Given the description of an element on the screen output the (x, y) to click on. 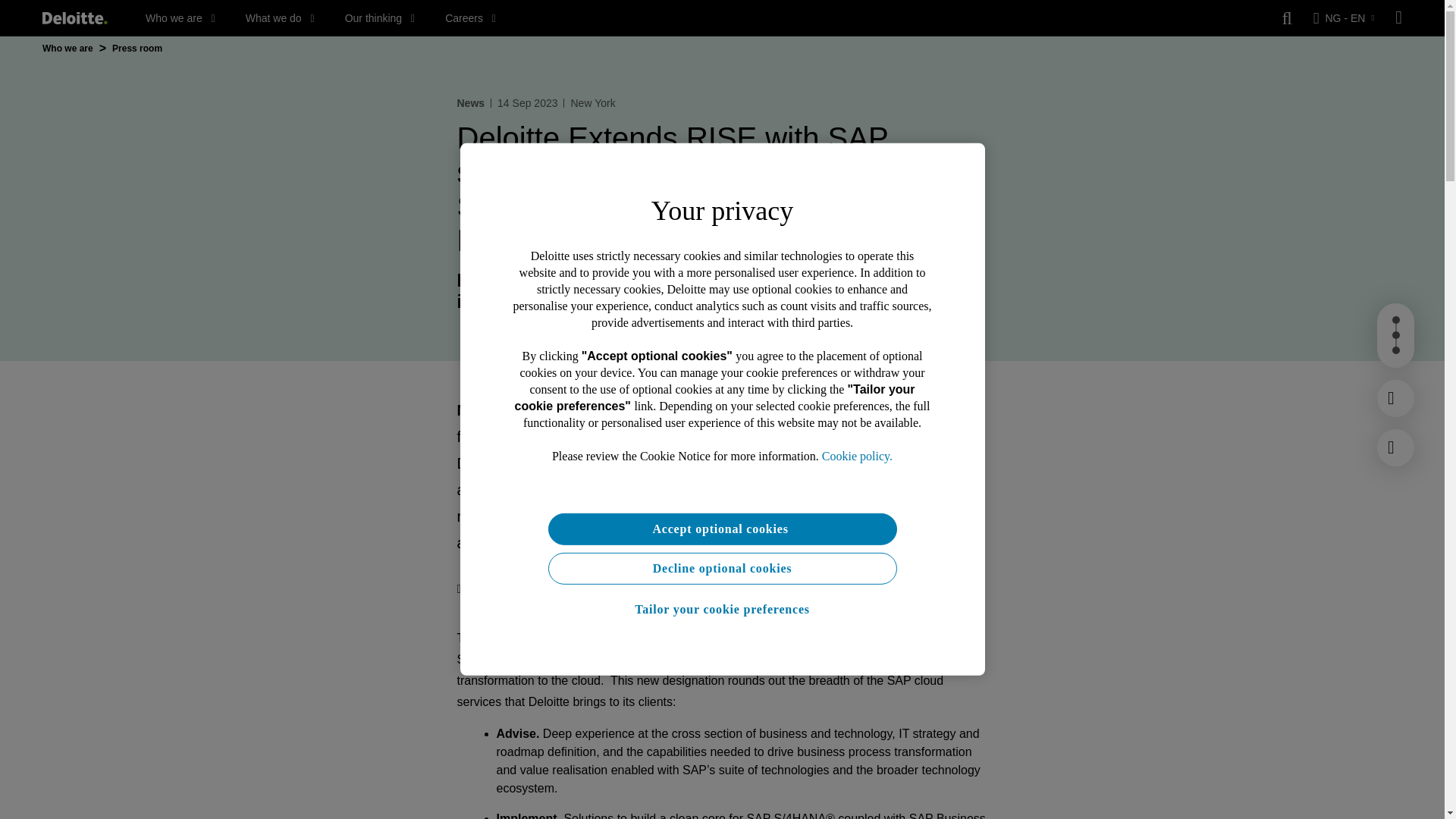
What we do (280, 18)
share via... (588, 589)
Who we are (180, 18)
share via... (528, 589)
Careers (470, 18)
Print (474, 589)
share via... (558, 589)
share via... (649, 589)
share via... (619, 589)
Our thinking (379, 18)
Deloitte (74, 18)
